Given the description of an element on the screen output the (x, y) to click on. 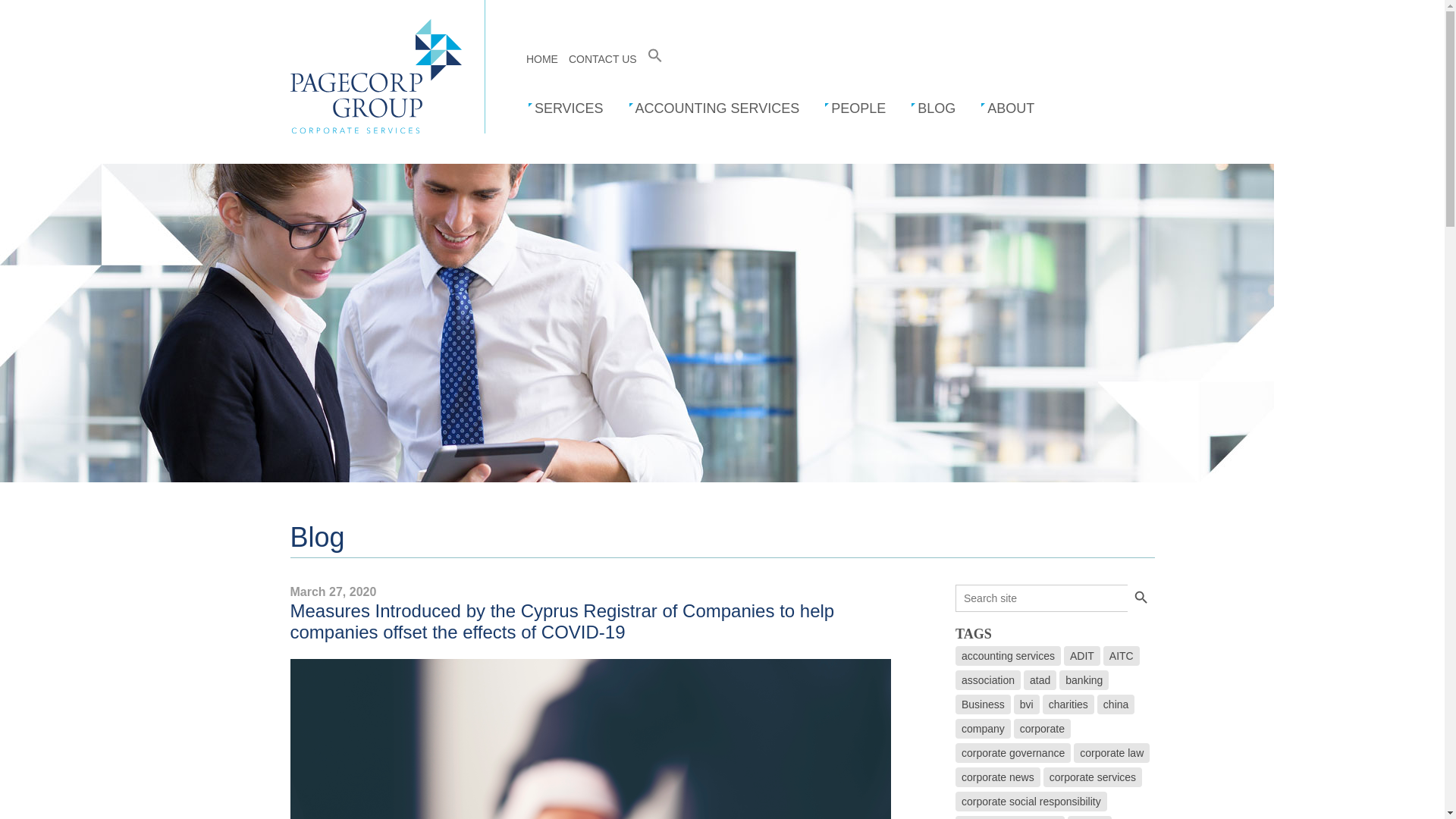
ABOUT (1007, 108)
ACCOUNTING SERVICES (713, 108)
PEOPLE (854, 108)
SERVICES (565, 108)
BLOG (932, 108)
CONTACT US (603, 58)
HOME (541, 58)
